Given the description of an element on the screen output the (x, y) to click on. 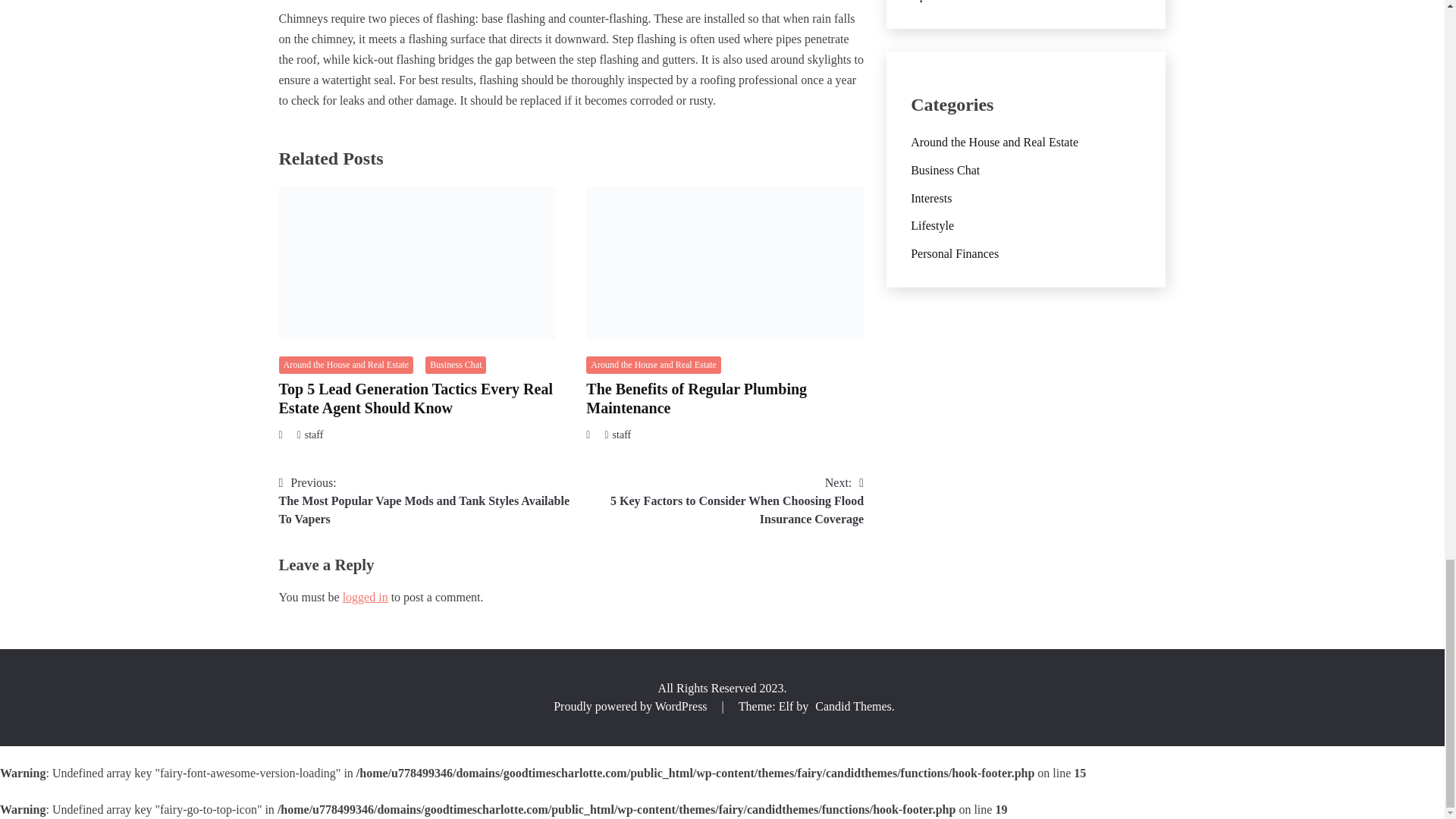
staff (313, 434)
Around the House and Real Estate (346, 364)
Around the House and Real Estate (653, 364)
The Benefits of Regular Plumbing Maintenance (696, 398)
staff (621, 434)
Business Chat (455, 364)
logged in (365, 596)
